Given the description of an element on the screen output the (x, y) to click on. 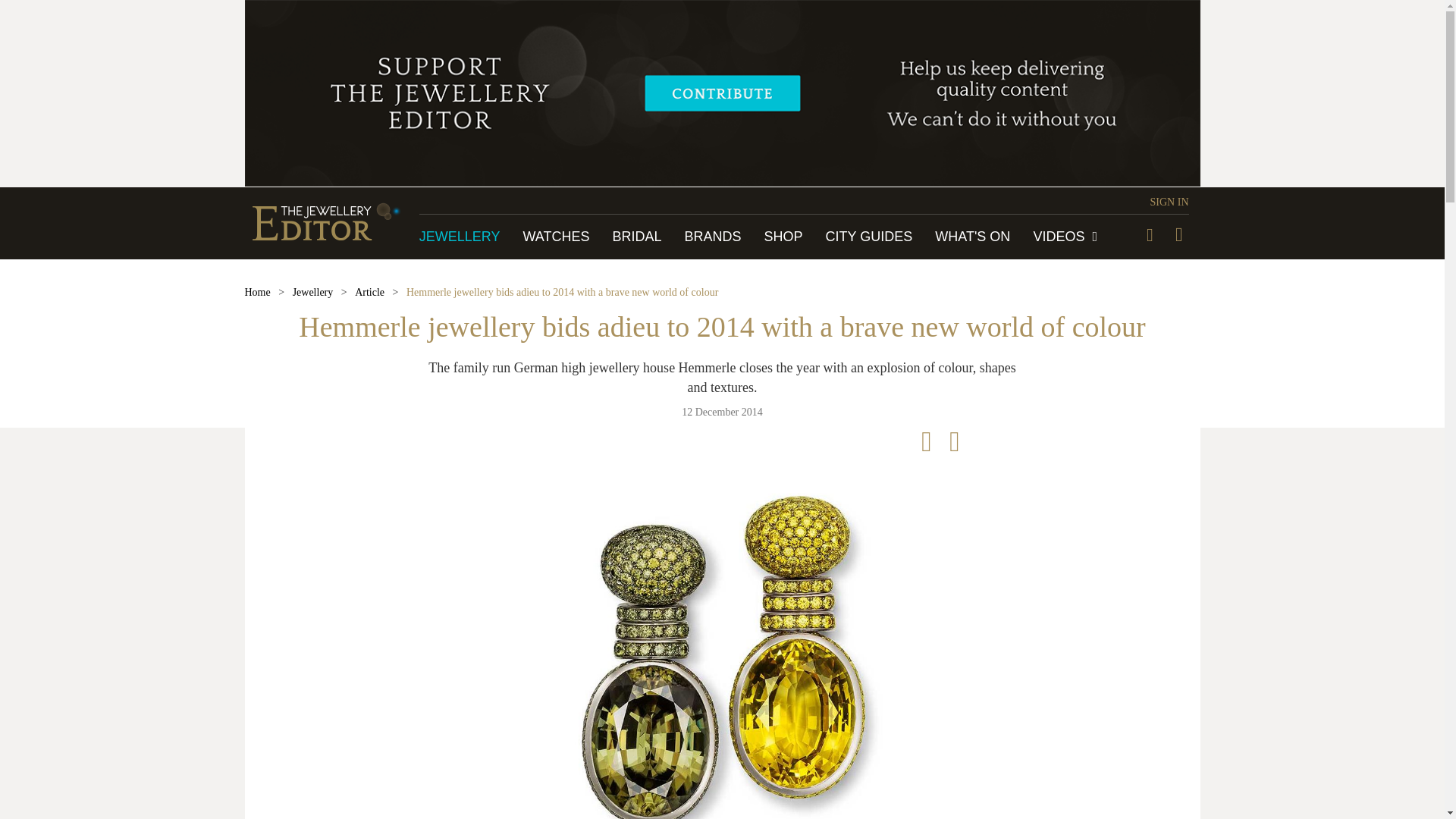
VIDEOS   (1064, 236)
Go to Bridal (636, 236)
BRIDAL (636, 236)
CITY GUIDES (868, 236)
Go to City Guides (868, 236)
JEWELLERY (459, 236)
Go to What's On (972, 236)
SHOP (783, 236)
WHAT'S ON (972, 236)
Go to Shop (783, 236)
Jewellery (312, 292)
Videos (1064, 236)
BRANDS (712, 236)
Go to Watches (555, 236)
Home (256, 292)
